Given the description of an element on the screen output the (x, y) to click on. 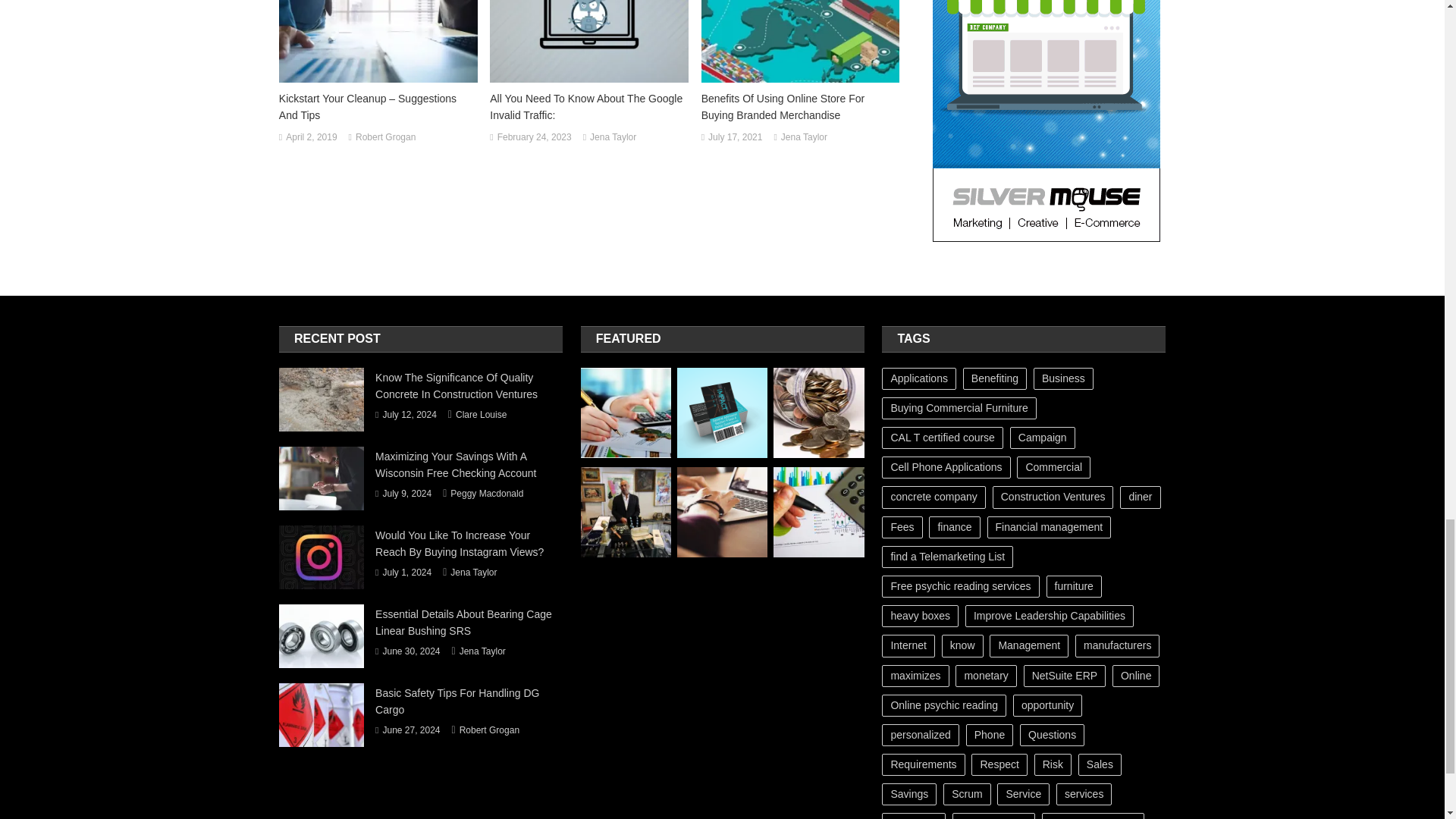
Robert Grogan (384, 137)
Jena Taylor (803, 137)
July 17, 2021 (734, 137)
Jena Taylor (612, 137)
February 24, 2023 (534, 137)
April 2, 2019 (310, 137)
All You Need To Know About The Google Invalid Traffic: (588, 106)
